Given the description of an element on the screen output the (x, y) to click on. 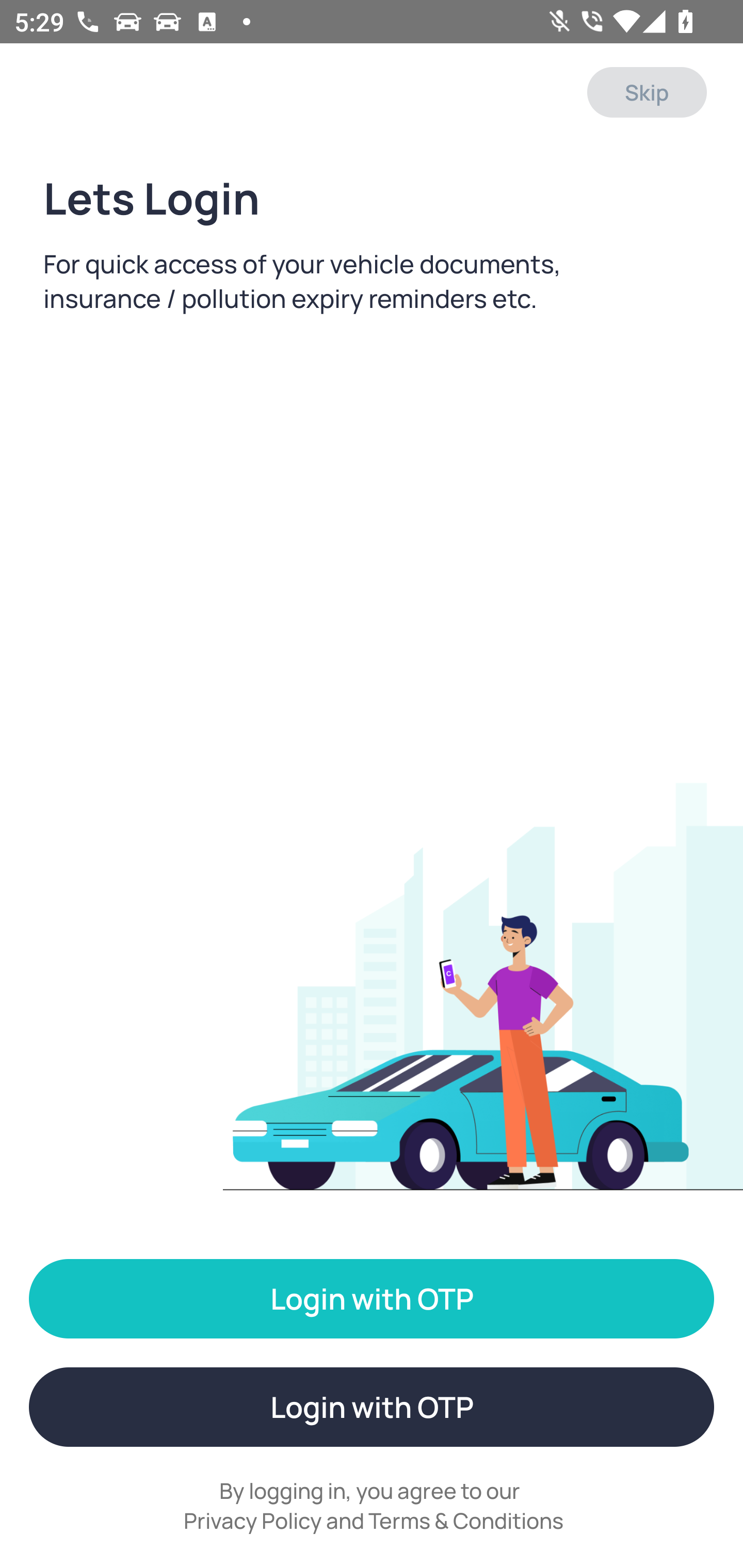
Skip (646, 92)
Login with OTP (371, 1299)
Login with OTP (371, 1407)
